Given the description of an element on the screen output the (x, y) to click on. 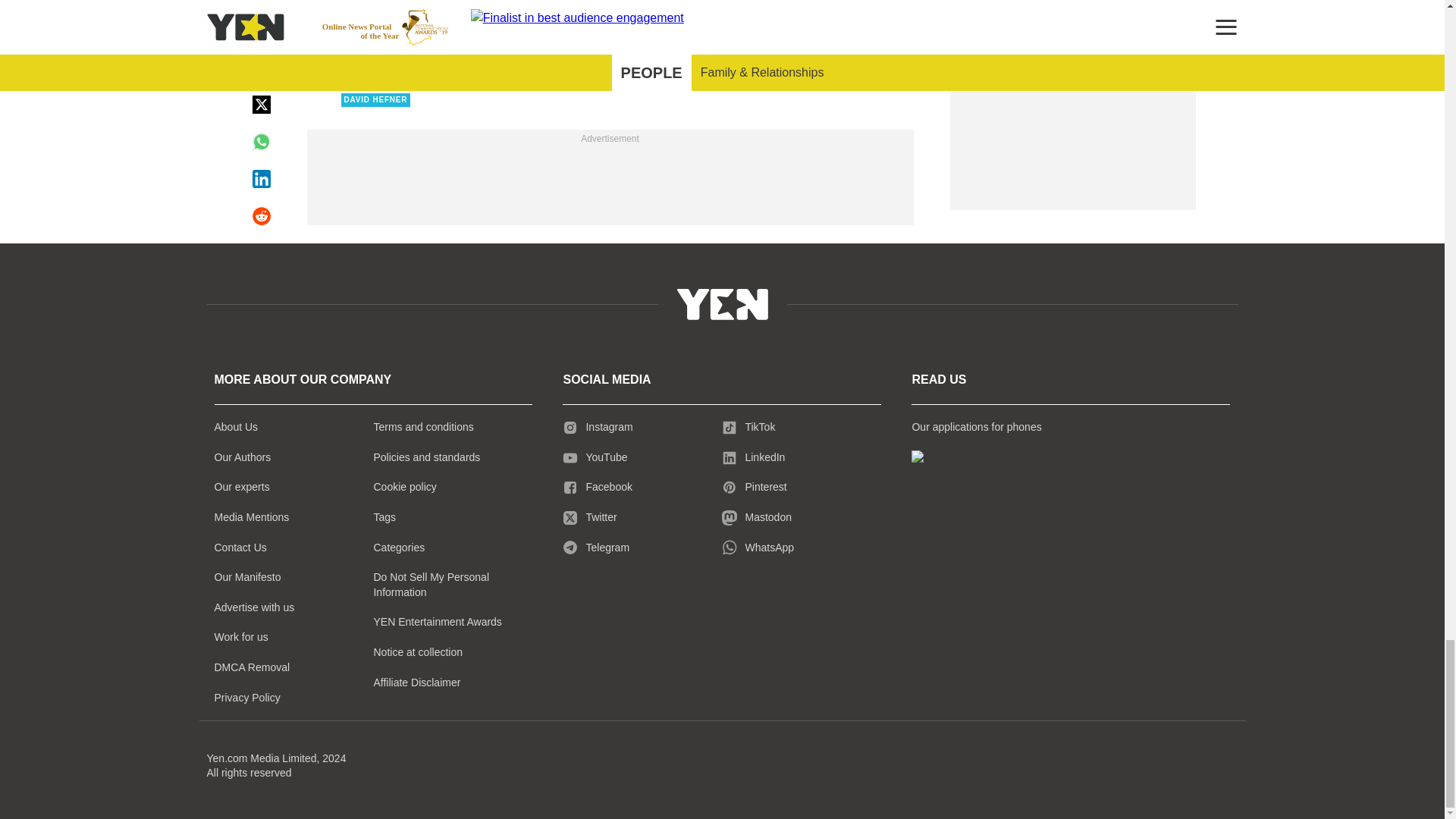
Author page (533, 11)
